Given the description of an element on the screen output the (x, y) to click on. 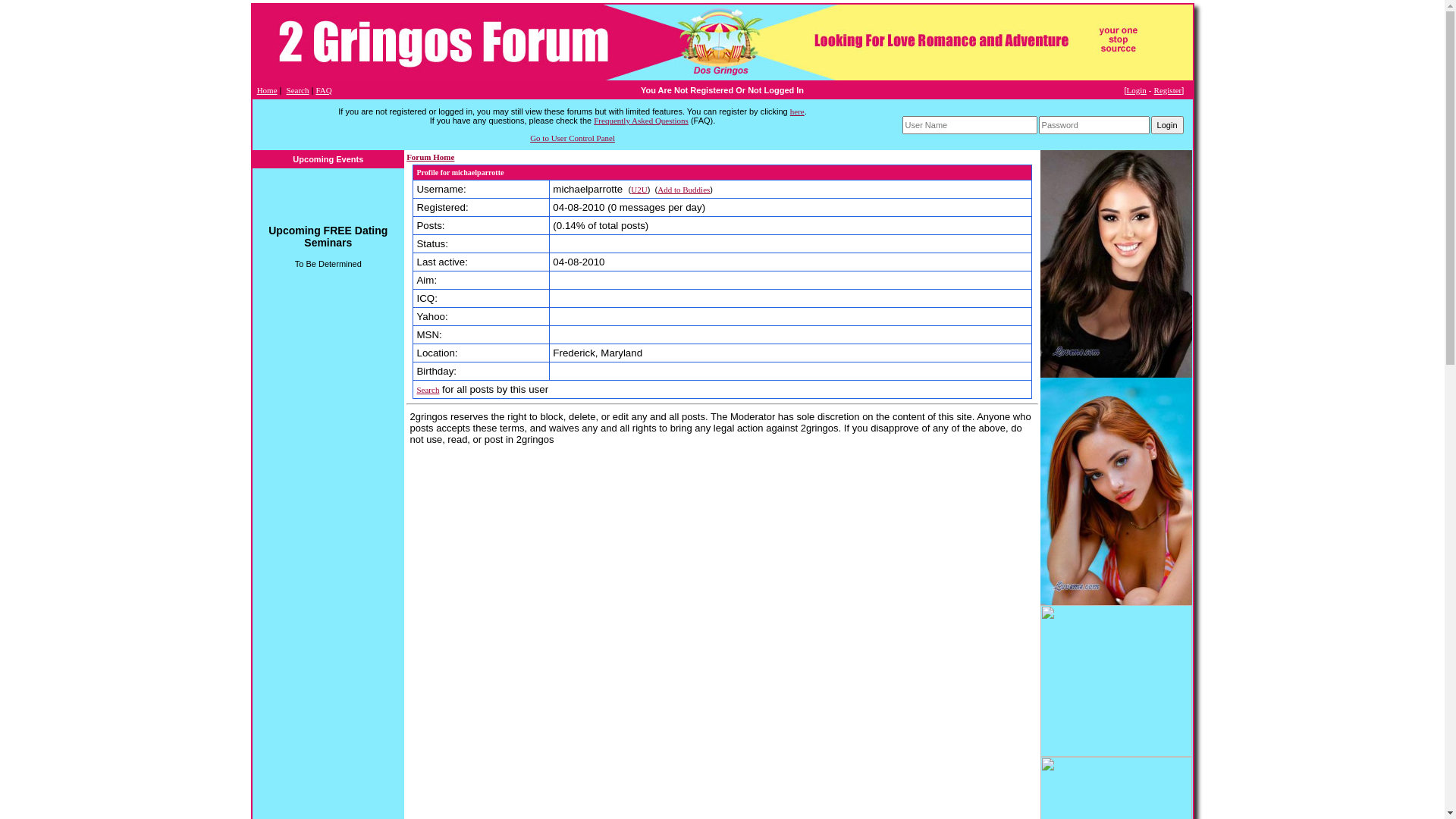
Search Element type: text (297, 89)
Search Element type: text (427, 389)
Forum Home Element type: text (430, 156)
Go to User Control Panel Element type: text (572, 137)
Add to Buddies Element type: text (683, 189)
FAQ Element type: text (323, 89)
Login Element type: text (1136, 89)
Home Element type: text (267, 89)
U2U Element type: text (638, 189)
Login Element type: text (1167, 124)
here Element type: text (797, 111)
Register Element type: text (1168, 89)
Frequently Asked Questions Element type: text (640, 120)
